Given the description of an element on the screen output the (x, y) to click on. 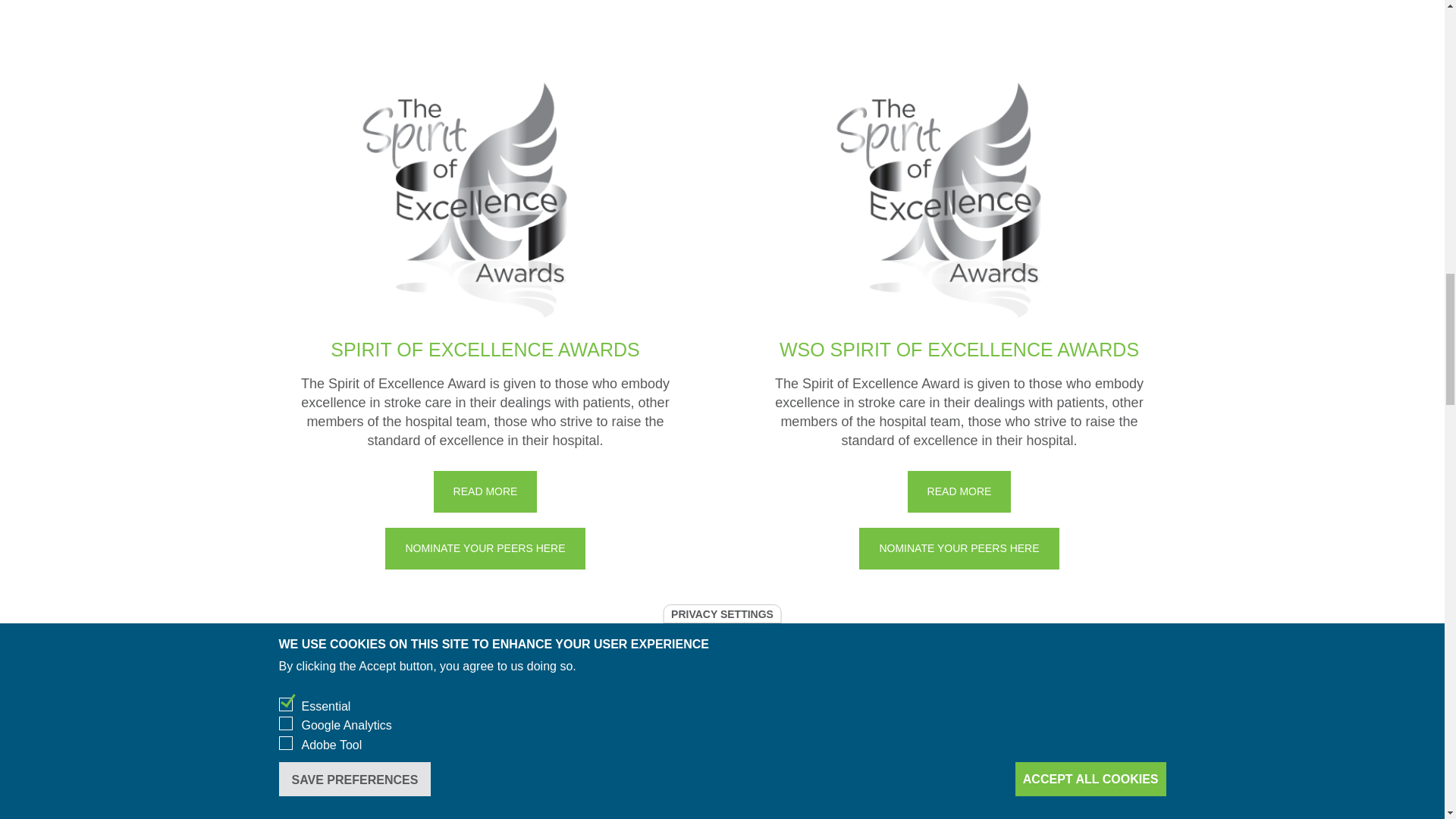
READ MORE (664, 818)
READ MORE (485, 491)
NOMINATE YOUR PEERS HERE (958, 548)
READ MORE (959, 491)
NOMINATE YOUR PEERS HERE (485, 548)
